Given the description of an element on the screen output the (x, y) to click on. 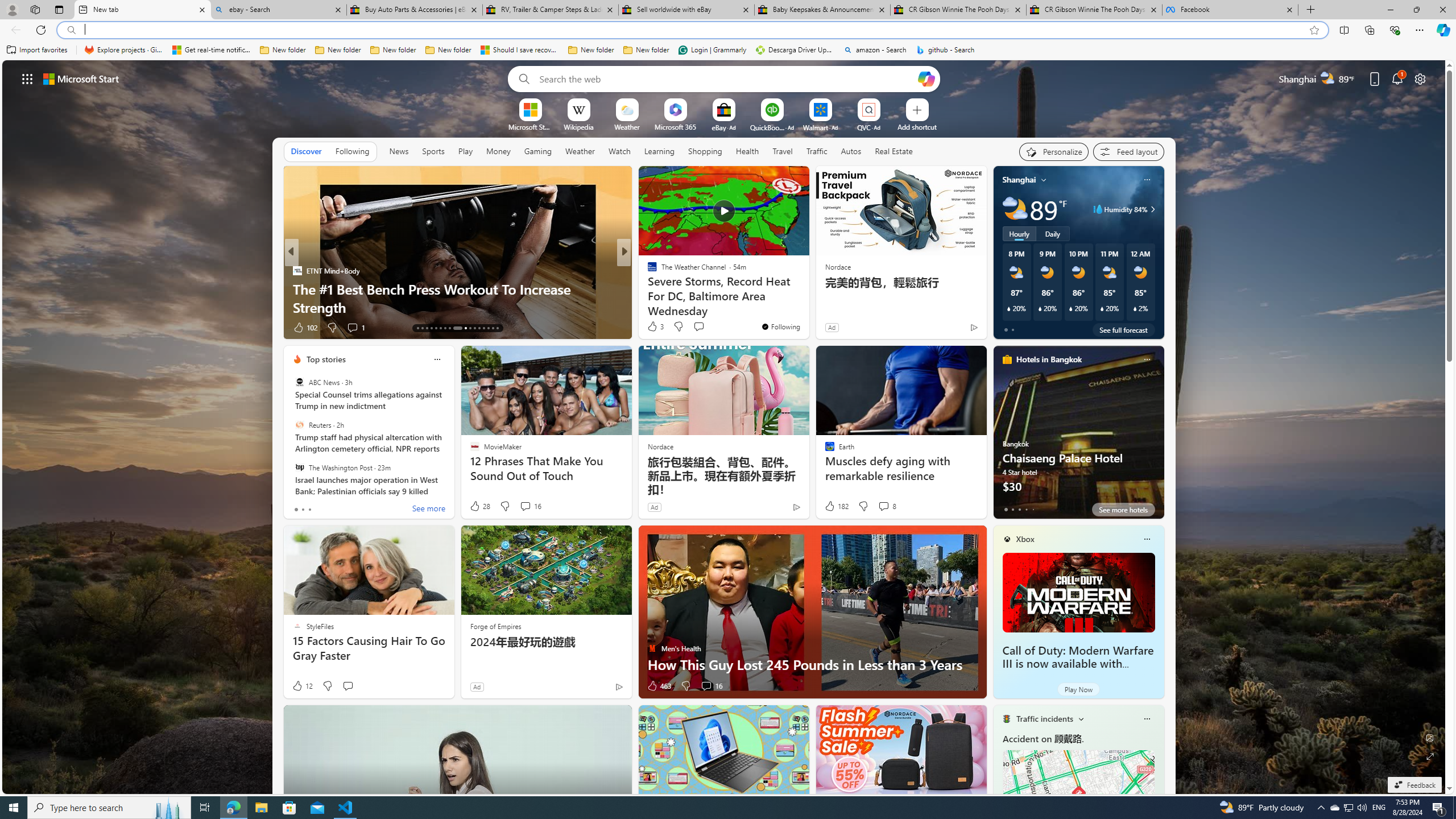
View comments 1 Comment (705, 327)
Daily (1052, 233)
AutomationID: tab-26 (483, 328)
New folder (646, 49)
AutomationID: tab-24 (474, 328)
The Washington Post (299, 466)
Import favorites (36, 49)
View comments 16 Comment (705, 685)
